Given the description of an element on the screen output the (x, y) to click on. 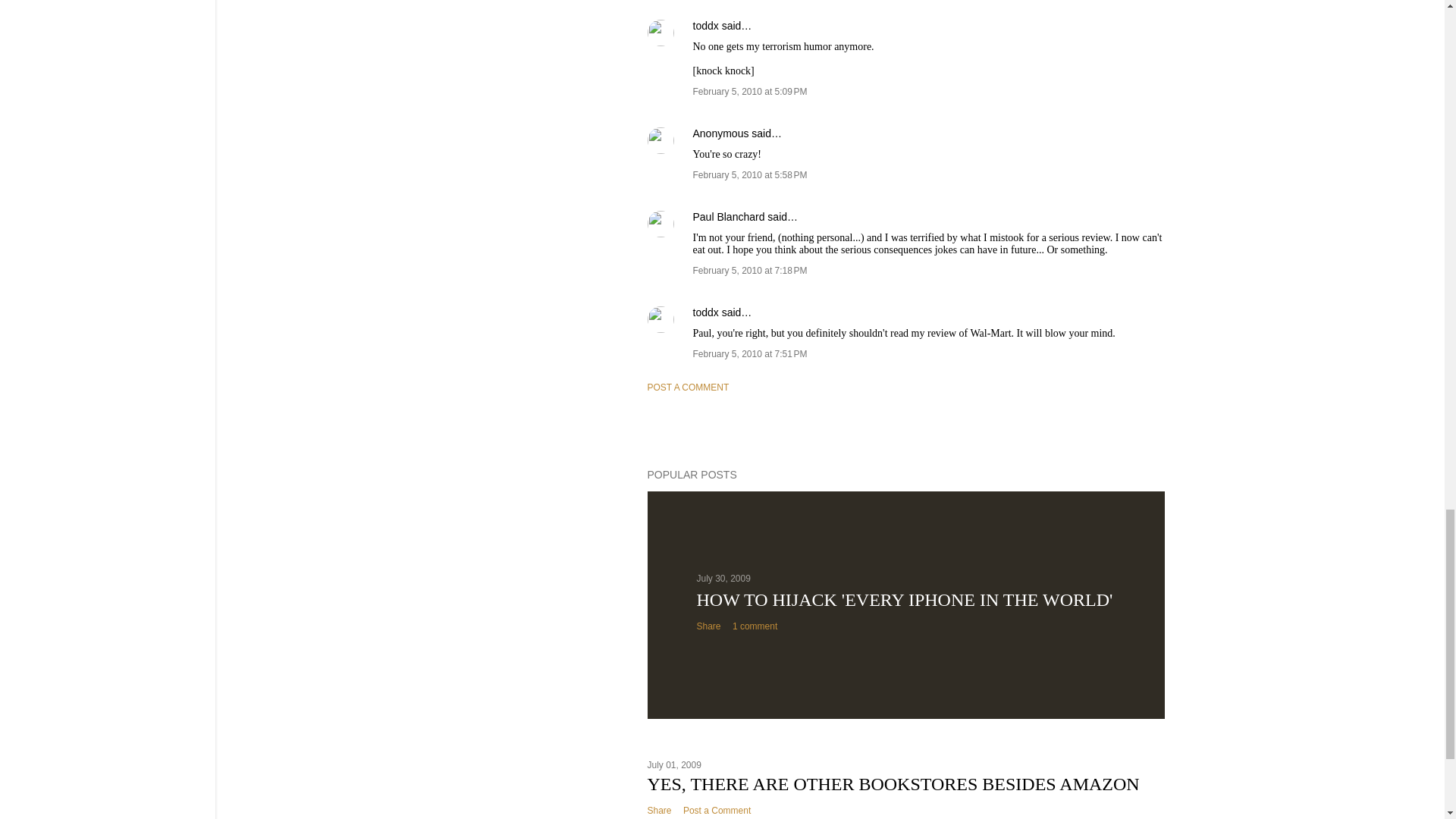
Share (707, 625)
toddx (706, 25)
1 comment (754, 625)
July 30, 2009 (722, 578)
July 01, 2009 (674, 765)
HOW TO HIJACK 'EVERY IPHONE IN THE WORLD' (903, 599)
toddx (706, 312)
Paul Blanchard (729, 216)
YES, THERE ARE OTHER BOOKSTORES BESIDES AMAZON (893, 783)
POST A COMMENT (688, 387)
